Given the description of an element on the screen output the (x, y) to click on. 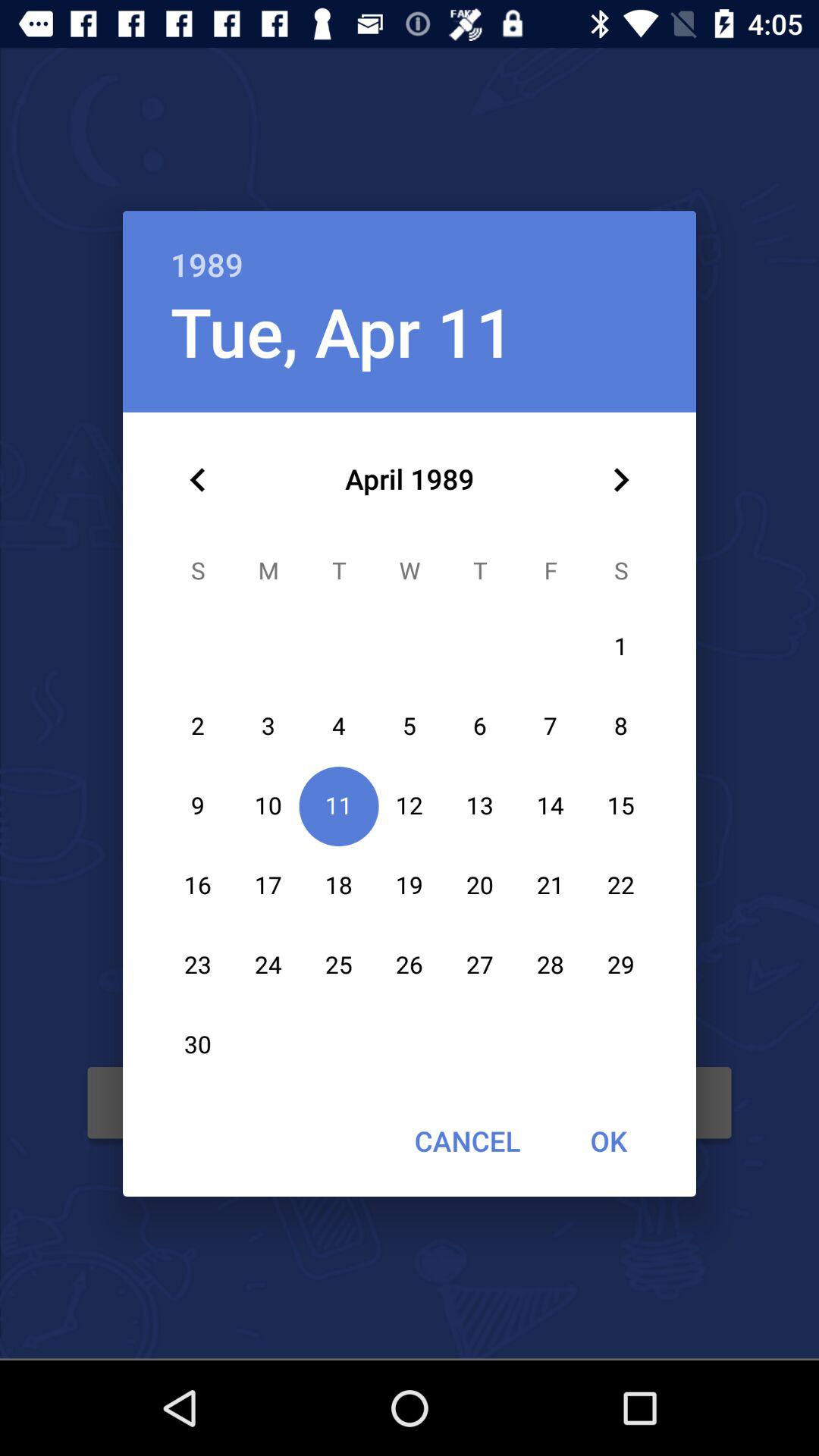
turn on ok item (608, 1140)
